Given the description of an element on the screen output the (x, y) to click on. 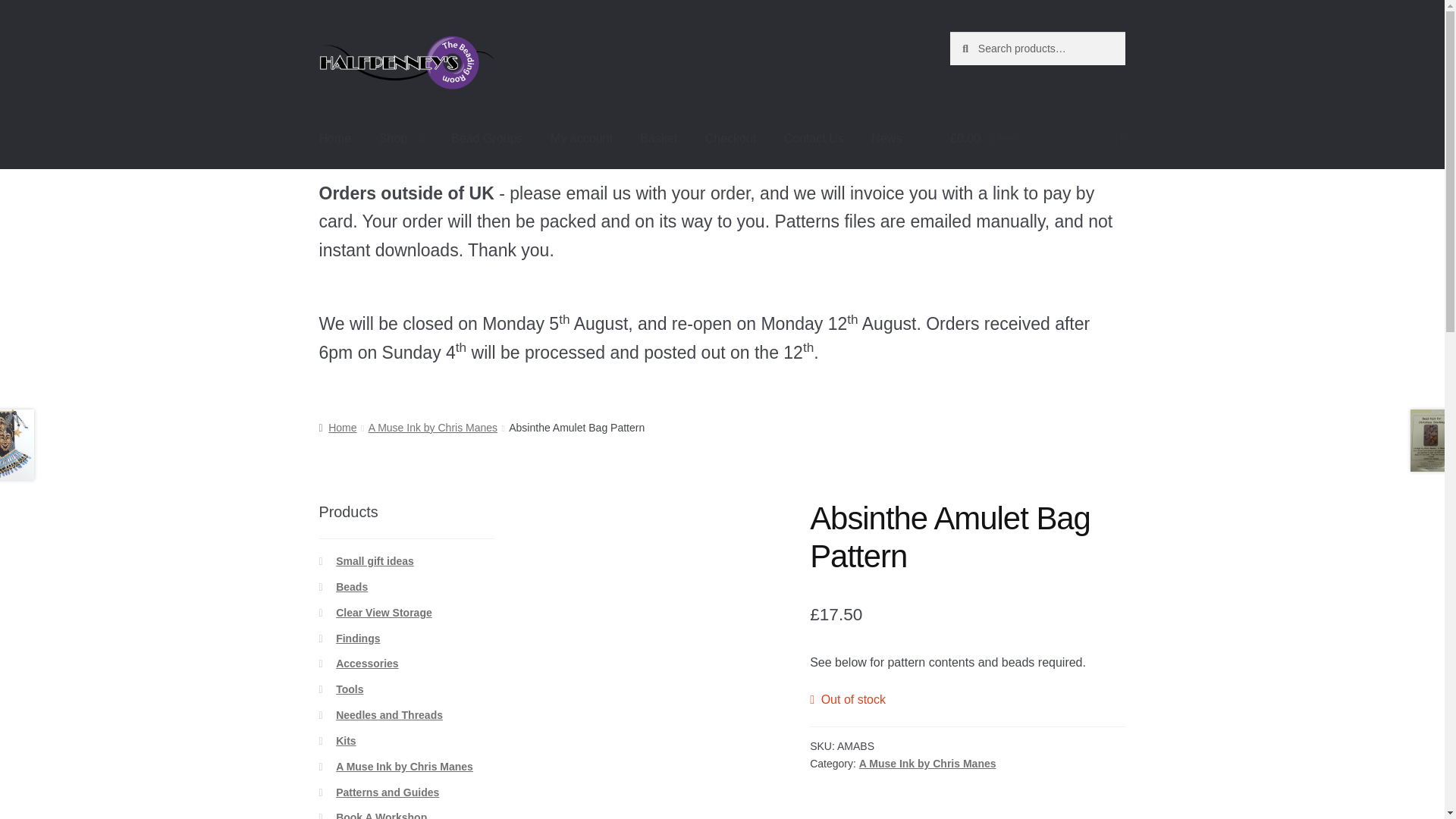
News (886, 138)
Shop (400, 138)
View your shopping basket (1037, 138)
My account (581, 138)
Contact Us (813, 138)
Basket (657, 138)
Checkout (730, 138)
Home (335, 138)
Bead Groups (486, 138)
